Given the description of an element on the screen output the (x, y) to click on. 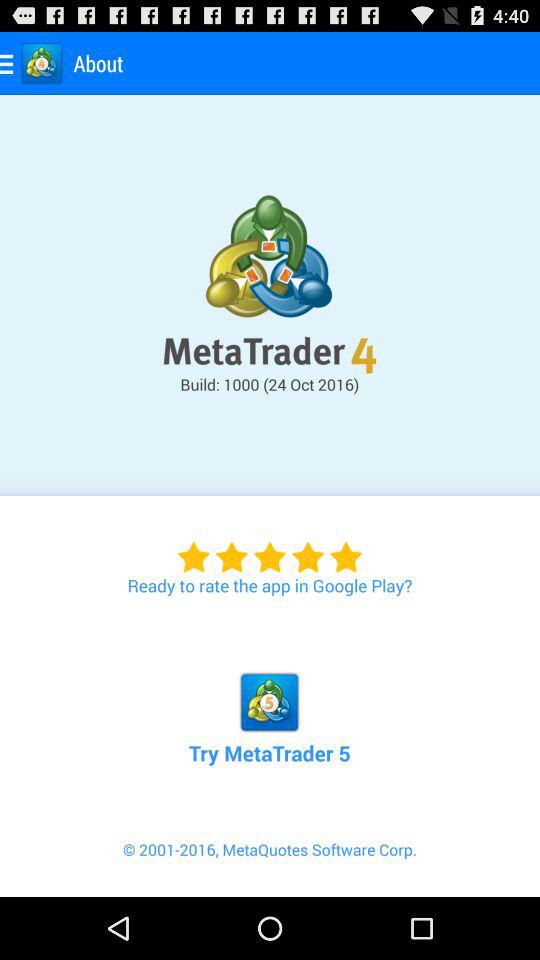
tap the icon above the 2001 2016 metaquotes icon (269, 696)
